Given the description of an element on the screen output the (x, y) to click on. 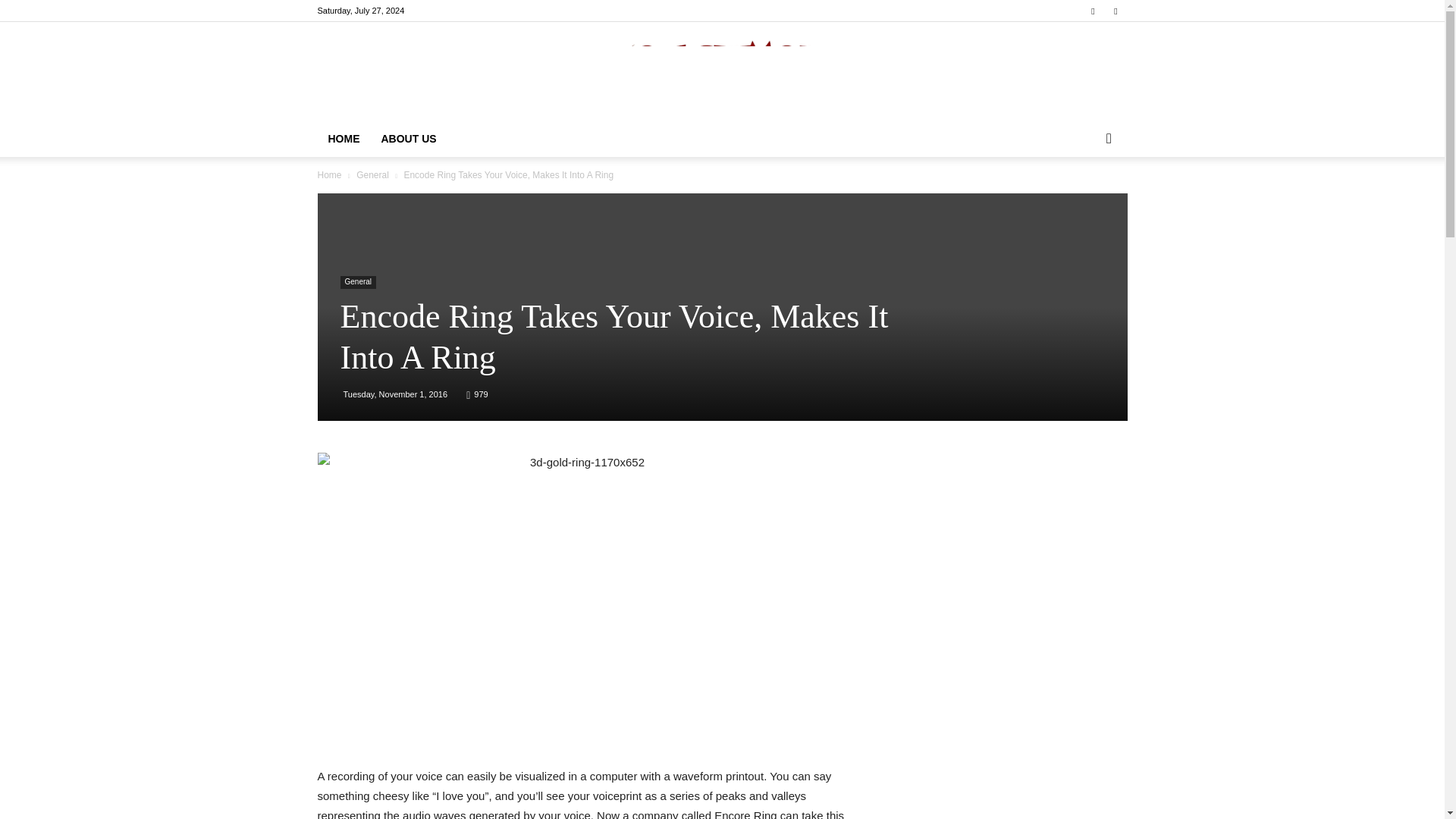
Facebook (1092, 10)
HOME (343, 138)
ABOUT US (407, 138)
General (357, 282)
Home (328, 174)
View all posts in General (372, 174)
Pinterest (1114, 10)
General (372, 174)
